Given the description of an element on the screen output the (x, y) to click on. 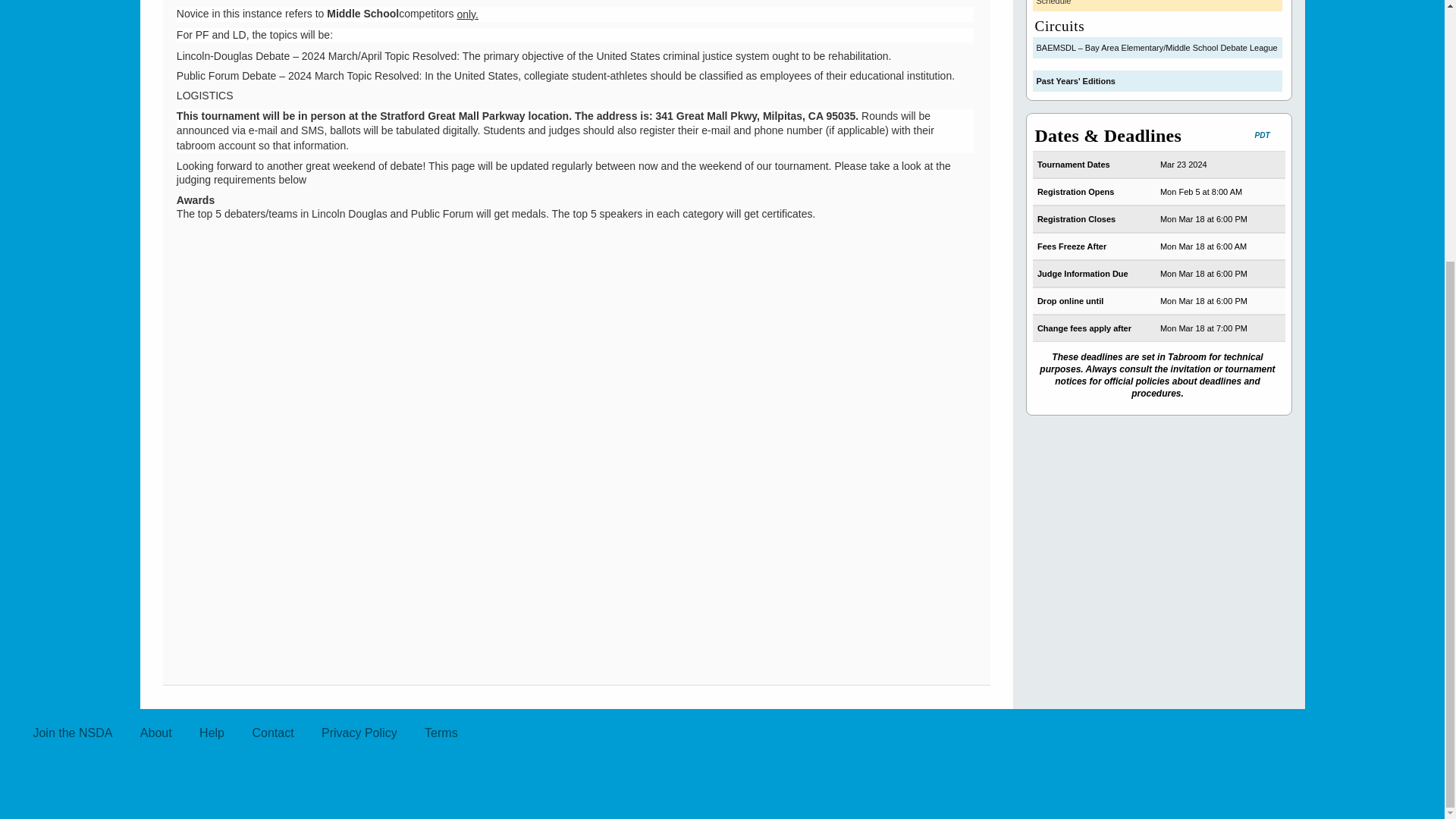
Terms (441, 732)
Privacy Policy (358, 732)
Contact (272, 732)
Join the NSDA (71, 732)
Schedule (1157, 5)
About (156, 732)
Past Years' Editions (1157, 80)
Help (211, 732)
